Given the description of an element on the screen output the (x, y) to click on. 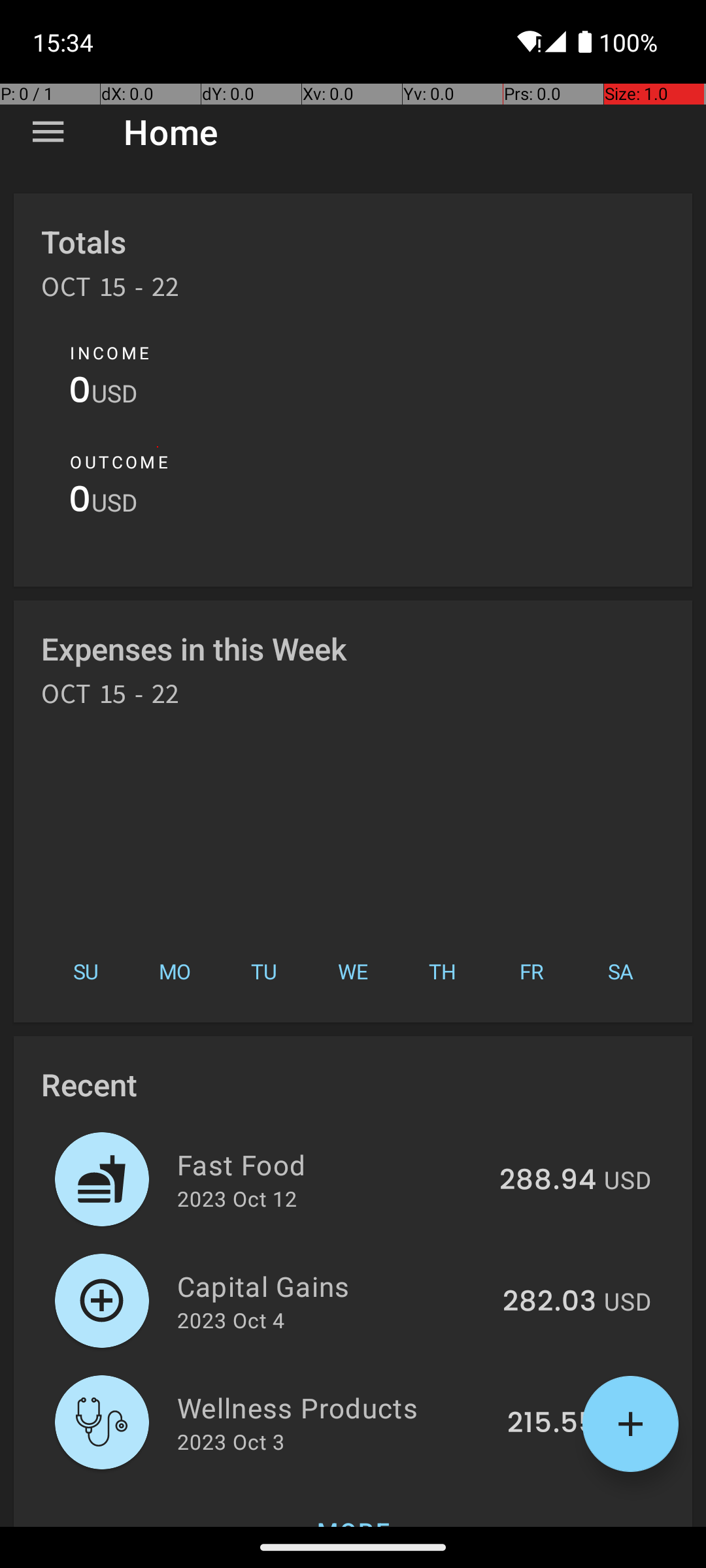
Fast Food Element type: android.widget.TextView (330, 1164)
288.94 Element type: android.widget.TextView (547, 1180)
Capital Gains Element type: android.widget.TextView (332, 1285)
2023 Oct 4 Element type: android.widget.TextView (230, 1320)
282.03 Element type: android.widget.TextView (549, 1301)
2023 Oct 3 Element type: android.widget.TextView (230, 1441)
215.55 Element type: android.widget.TextView (551, 1423)
